Given the description of an element on the screen output the (x, y) to click on. 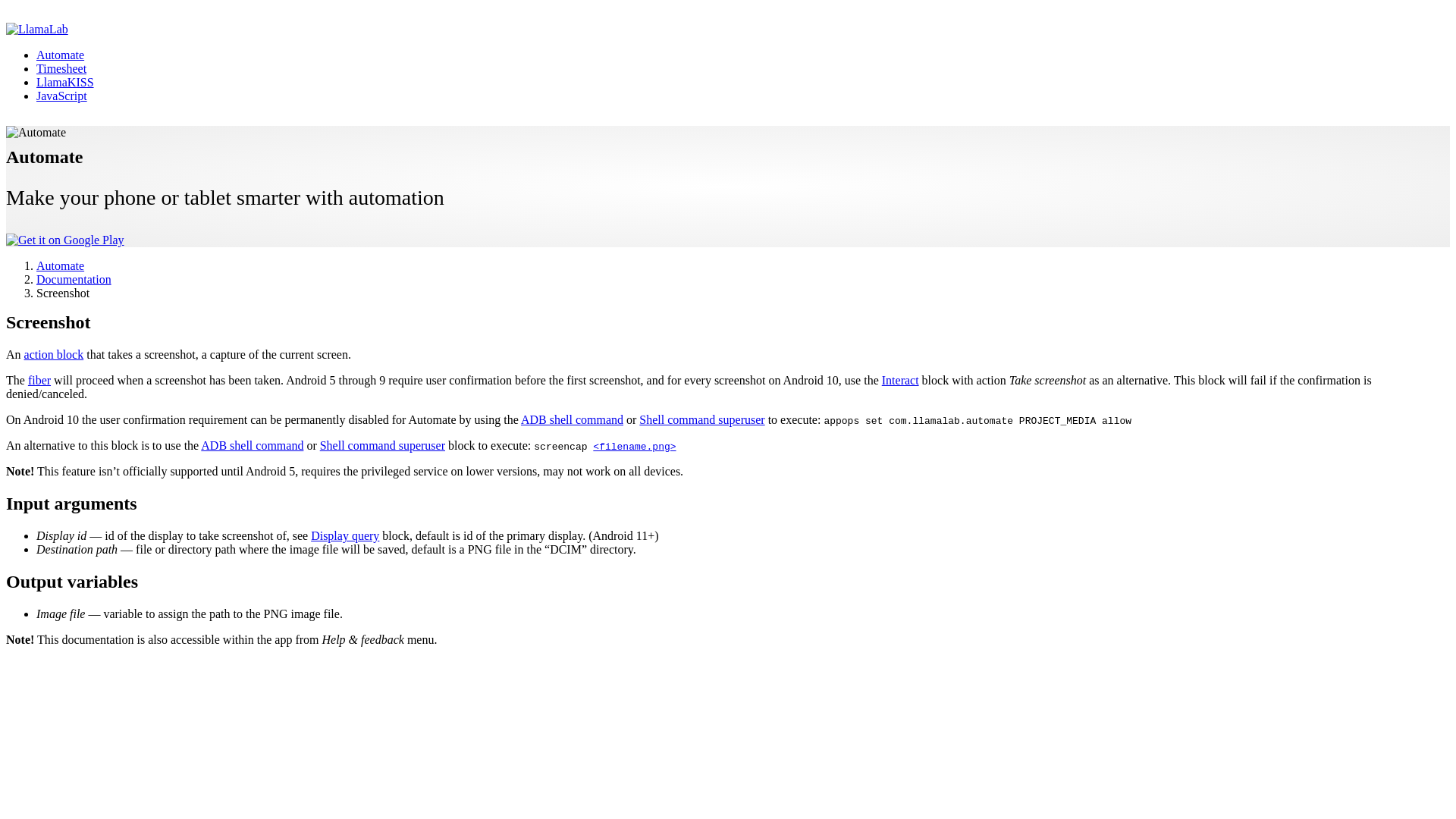
LlamaKISS (65, 82)
JavaScript (61, 95)
Automate (60, 54)
Display query (344, 535)
Shell command superuser (382, 445)
ADB shell command (251, 445)
Documentation (74, 278)
Interact (900, 379)
Timesheet (60, 68)
Shell command superuser (701, 419)
action block (54, 354)
ADB shell command (572, 419)
fiber (38, 379)
Automate (60, 265)
